Given the description of an element on the screen output the (x, y) to click on. 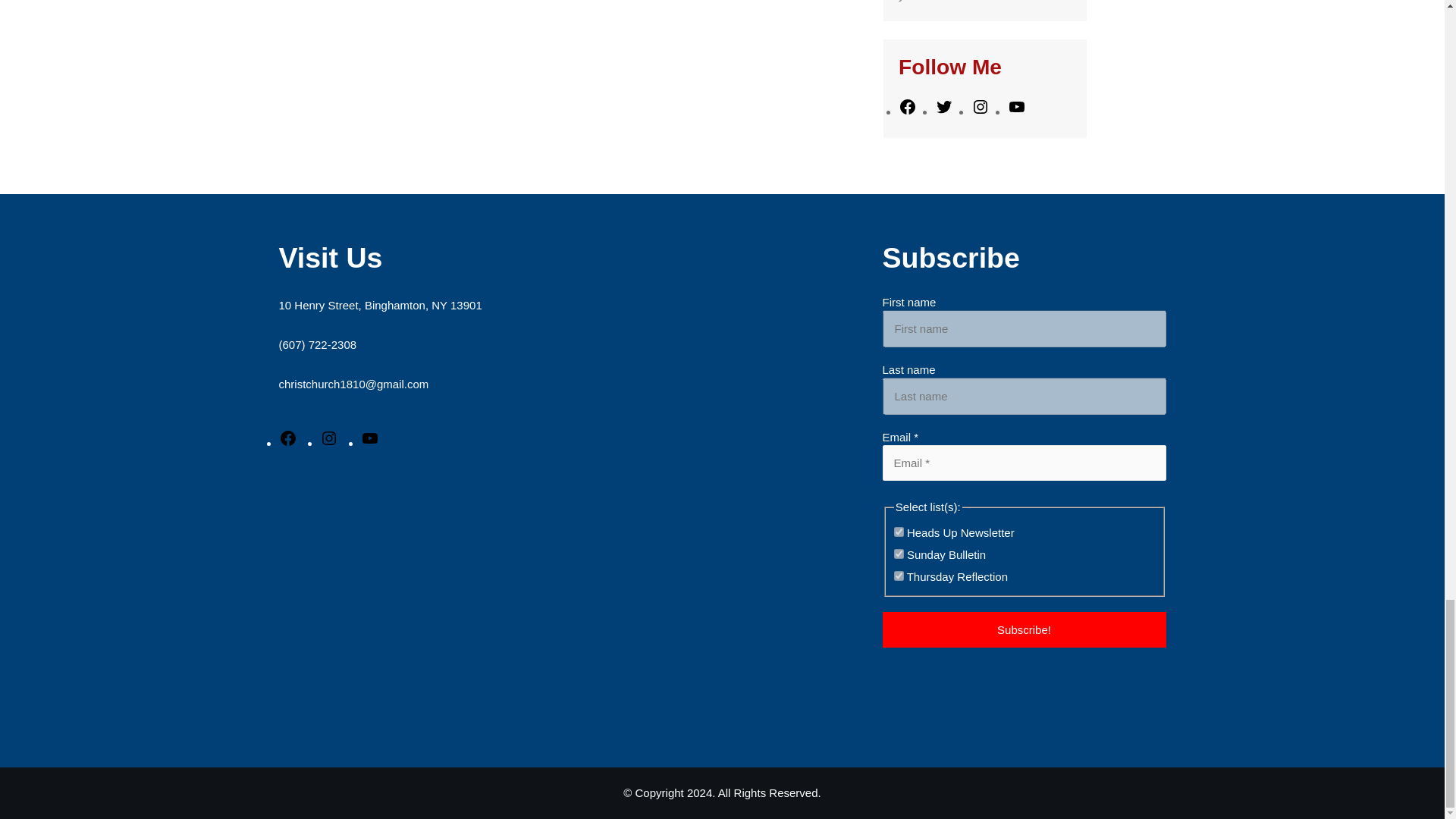
Email (1024, 462)
First name (1024, 328)
7 (898, 553)
3 (898, 532)
6 (898, 575)
Google Map for  (521, 600)
Subscribe! (1024, 629)
Last name (1024, 395)
